Given the description of an element on the screen output the (x, y) to click on. 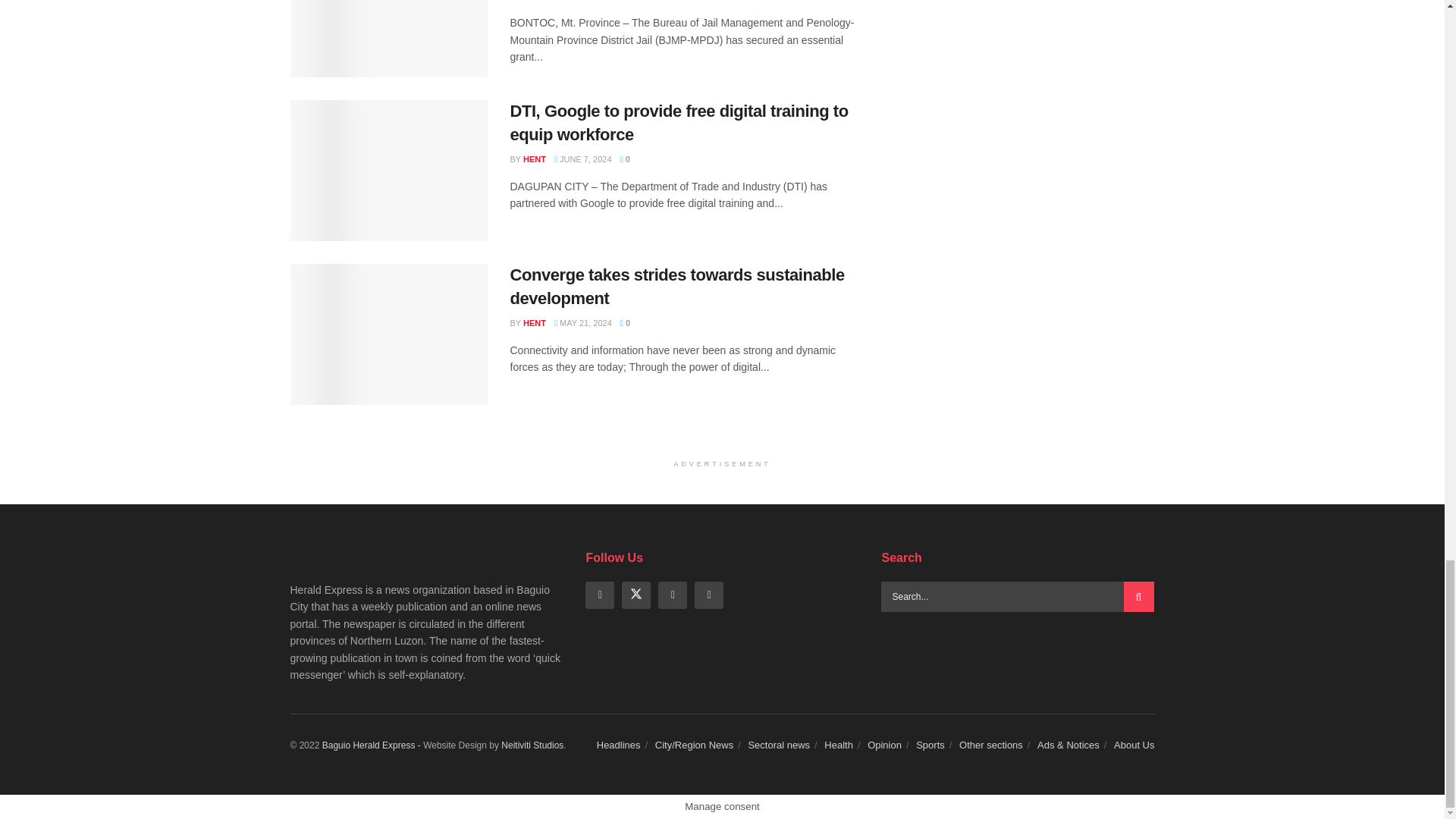
Website design by (372, 745)
Neitiviti Studios (531, 745)
